Given the description of an element on the screen output the (x, y) to click on. 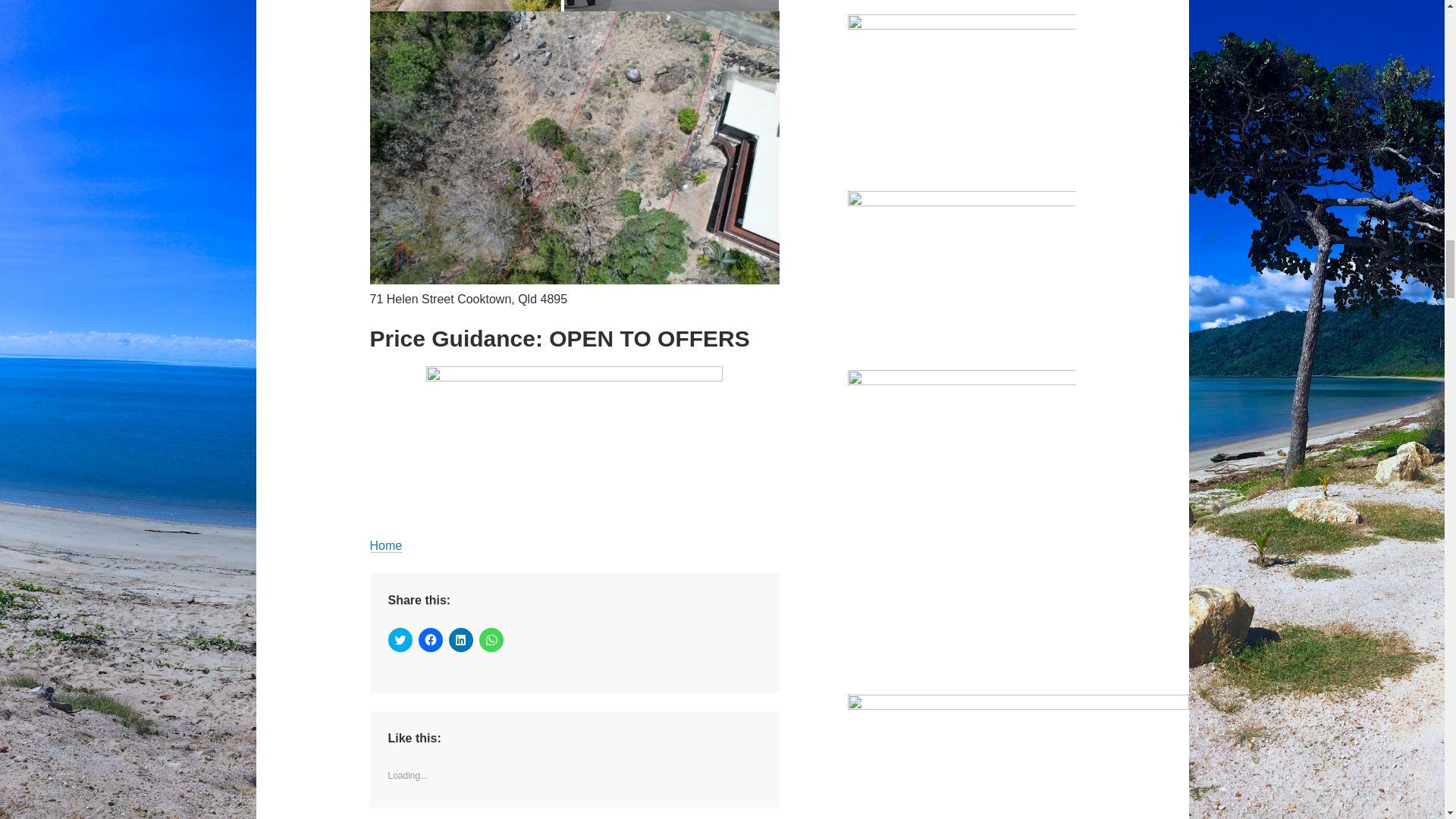
Click to share on Twitter (400, 639)
Click to share on LinkedIn (460, 639)
Click to share on WhatsApp (491, 639)
Click to share on Facebook (430, 639)
